Given the description of an element on the screen output the (x, y) to click on. 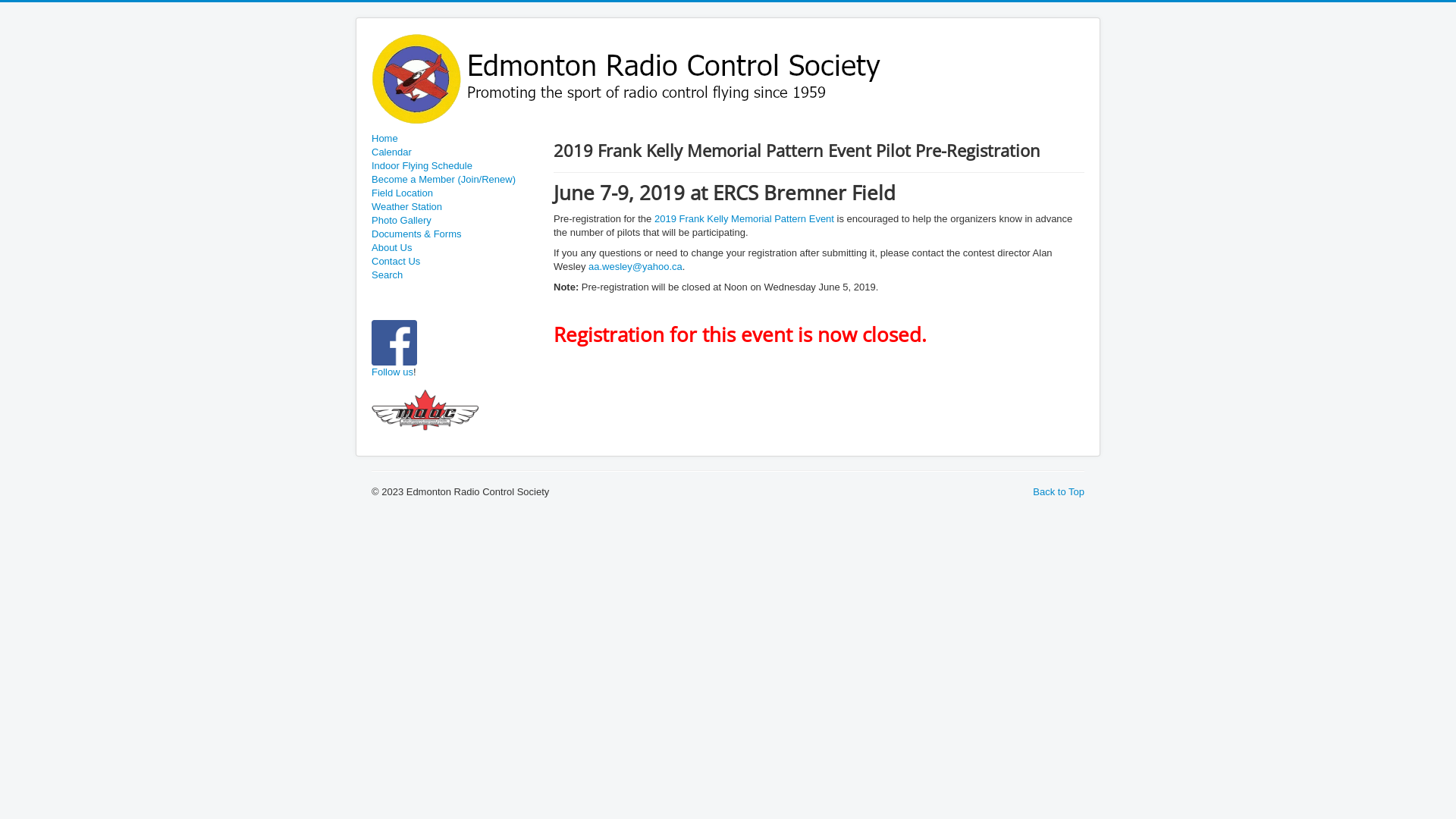
Search Element type: text (454, 275)
Calendar Element type: text (454, 152)
Field Location Element type: text (454, 193)
Weather Station Element type: text (454, 206)
Home Element type: text (454, 138)
Photo Gallery Element type: text (454, 220)
aa.wesley@yahoo.ca Element type: text (635, 266)
Become a Member (Join/Renew) Element type: text (454, 179)
Back to Top Element type: text (1058, 491)
About Us Element type: text (454, 247)
Indoor Flying Schedule Element type: text (454, 165)
2019 Frank Kelly Memorial Pattern Event Element type: text (744, 218)
Follow us Element type: text (392, 371)
Documents & Forms Element type: text (454, 234)
Contact Us Element type: text (454, 261)
  Element type: text (417, 371)
